Given the description of an element on the screen output the (x, y) to click on. 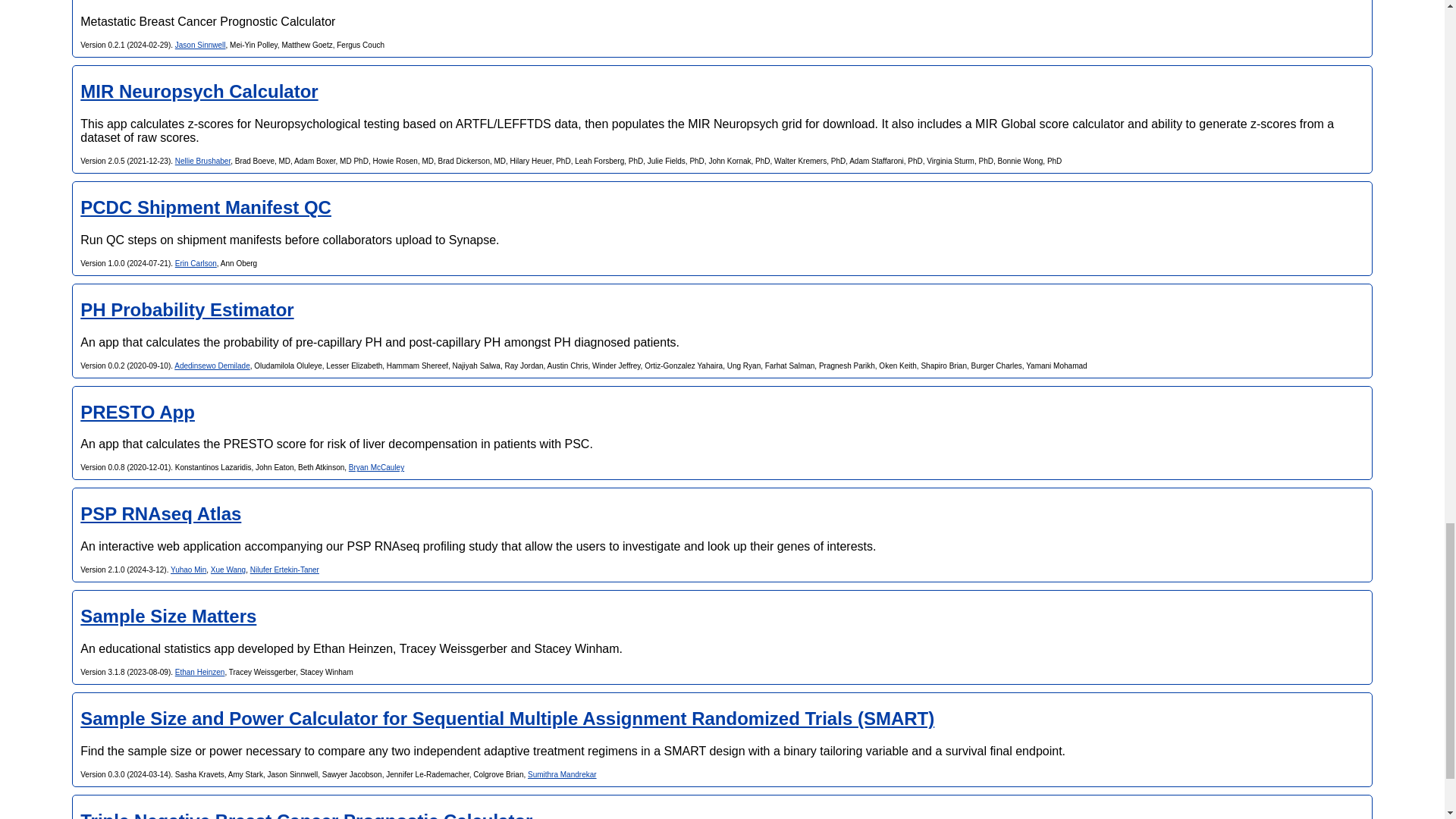
Nellie Brushaber (202, 161)
PCDC Shipment Manifest QC (205, 207)
Jason Sinnwell (199, 44)
Adedinsewo Demilade (212, 365)
PH Probability Estimator (187, 309)
PRESTO App (137, 412)
MIR Neuropsych Calculator (198, 91)
Erin Carlson (195, 263)
